Given the description of an element on the screen output the (x, y) to click on. 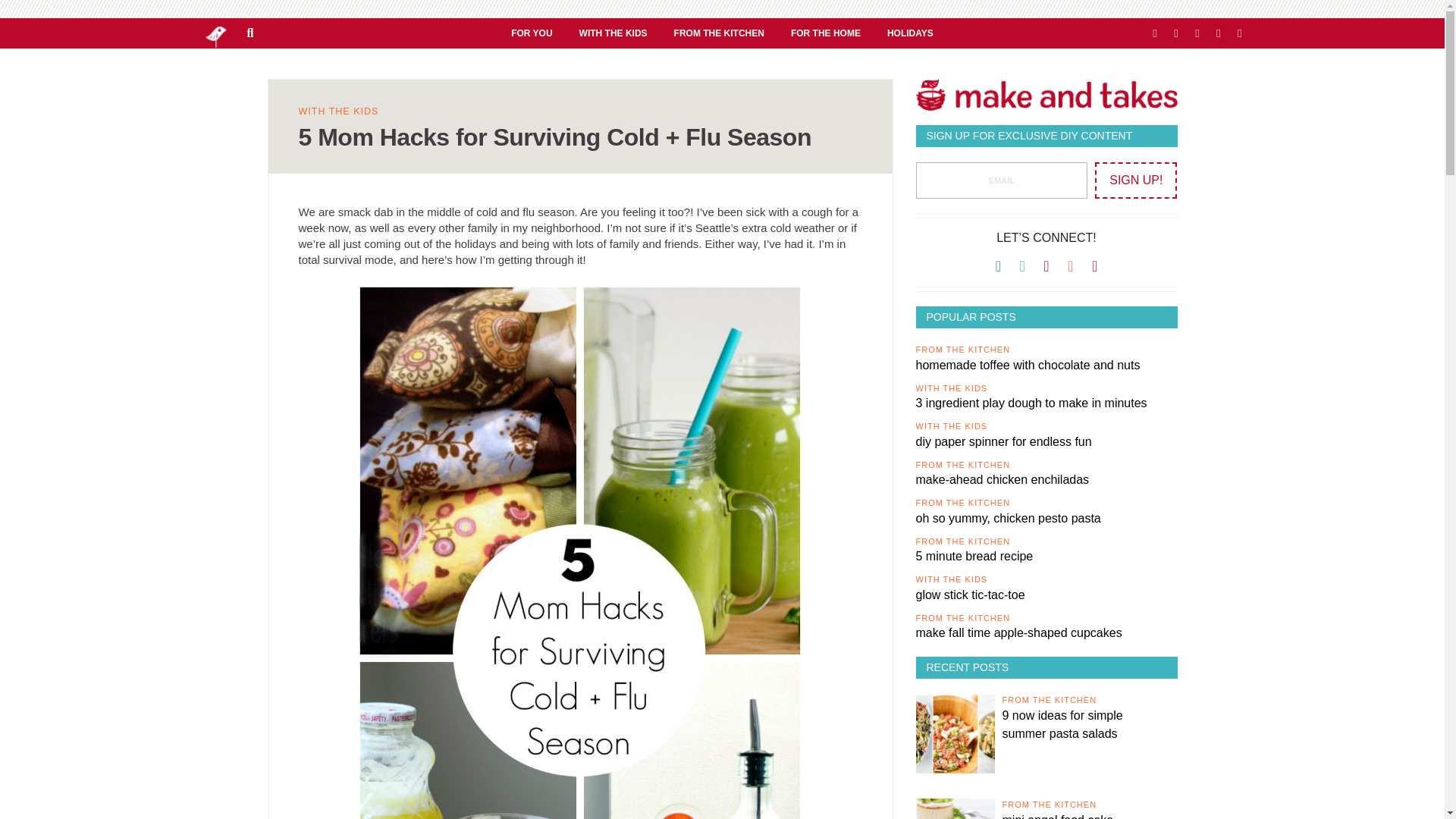
FOR YOU (531, 33)
FROM THE KITCHEN (719, 33)
WITH THE KIDS (613, 33)
